Given the description of an element on the screen output the (x, y) to click on. 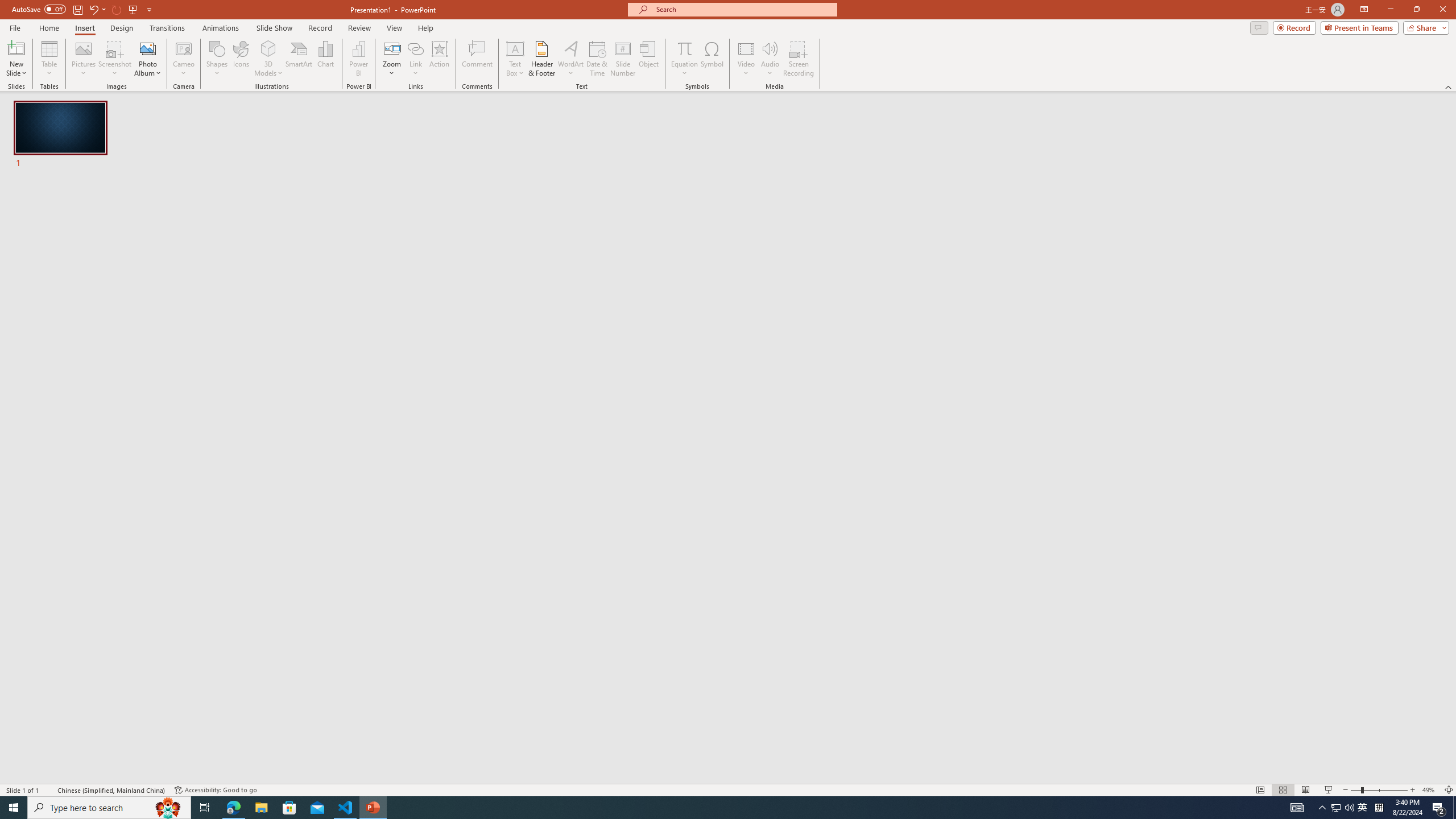
Slide (61, 135)
Shapes (216, 58)
Pictures (83, 58)
Zoom 49% (1430, 790)
SmartArt... (298, 58)
Link (415, 48)
